Given the description of an element on the screen output the (x, y) to click on. 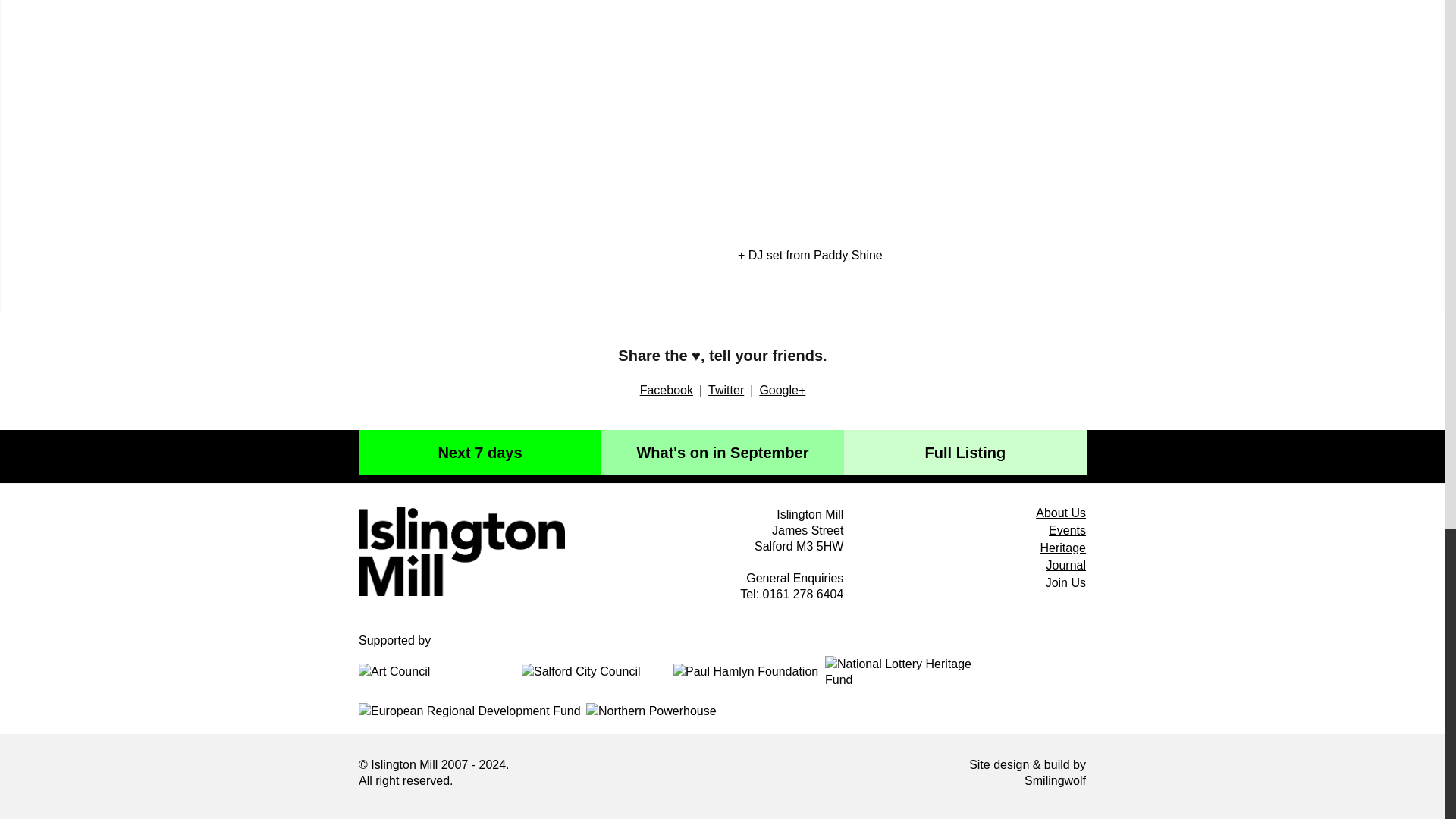
Next 7 days (479, 452)
Join Us (1065, 582)
Islington Mill (461, 551)
Events (1067, 530)
Smilingwolf (1055, 780)
Facebook (666, 390)
Full Listing (965, 452)
Journal (1066, 564)
Twitter (725, 390)
Heritage (1063, 547)
